Given the description of an element on the screen output the (x, y) to click on. 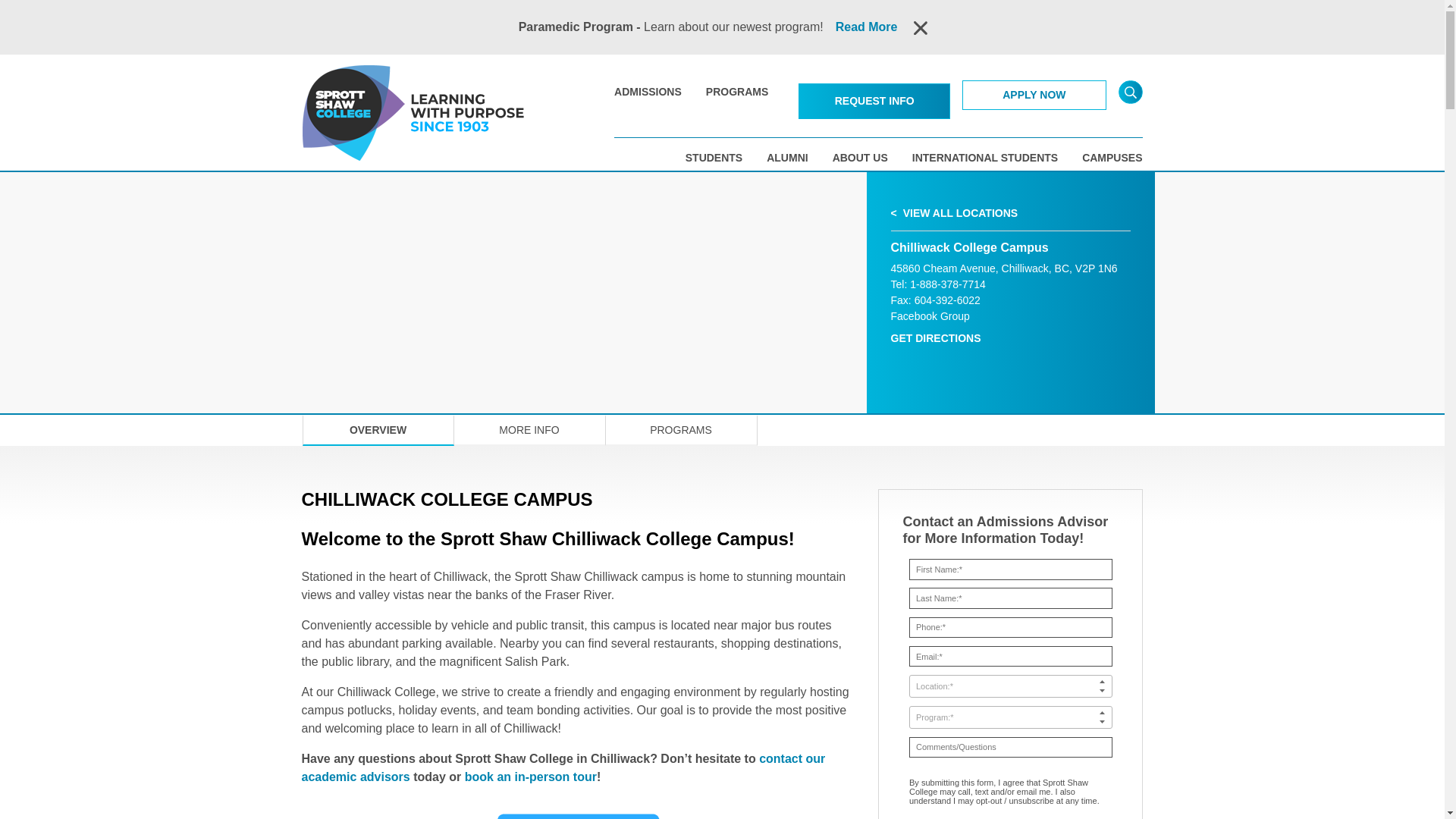
INTERNATIONAL STUDENTS (985, 157)
Go Chilliwack College Campus Facebook Group (930, 316)
get direction to campus on google maps (1004, 268)
APPLY NOW (1033, 94)
CAMPUSES (1111, 157)
Call Chilliwack College Campus - 1-888-378-7714 (938, 284)
ADMISSIONS (647, 91)
site root (355, 112)
ALUMNI (787, 157)
STUDENTS (713, 157)
